Given the description of an element on the screen output the (x, y) to click on. 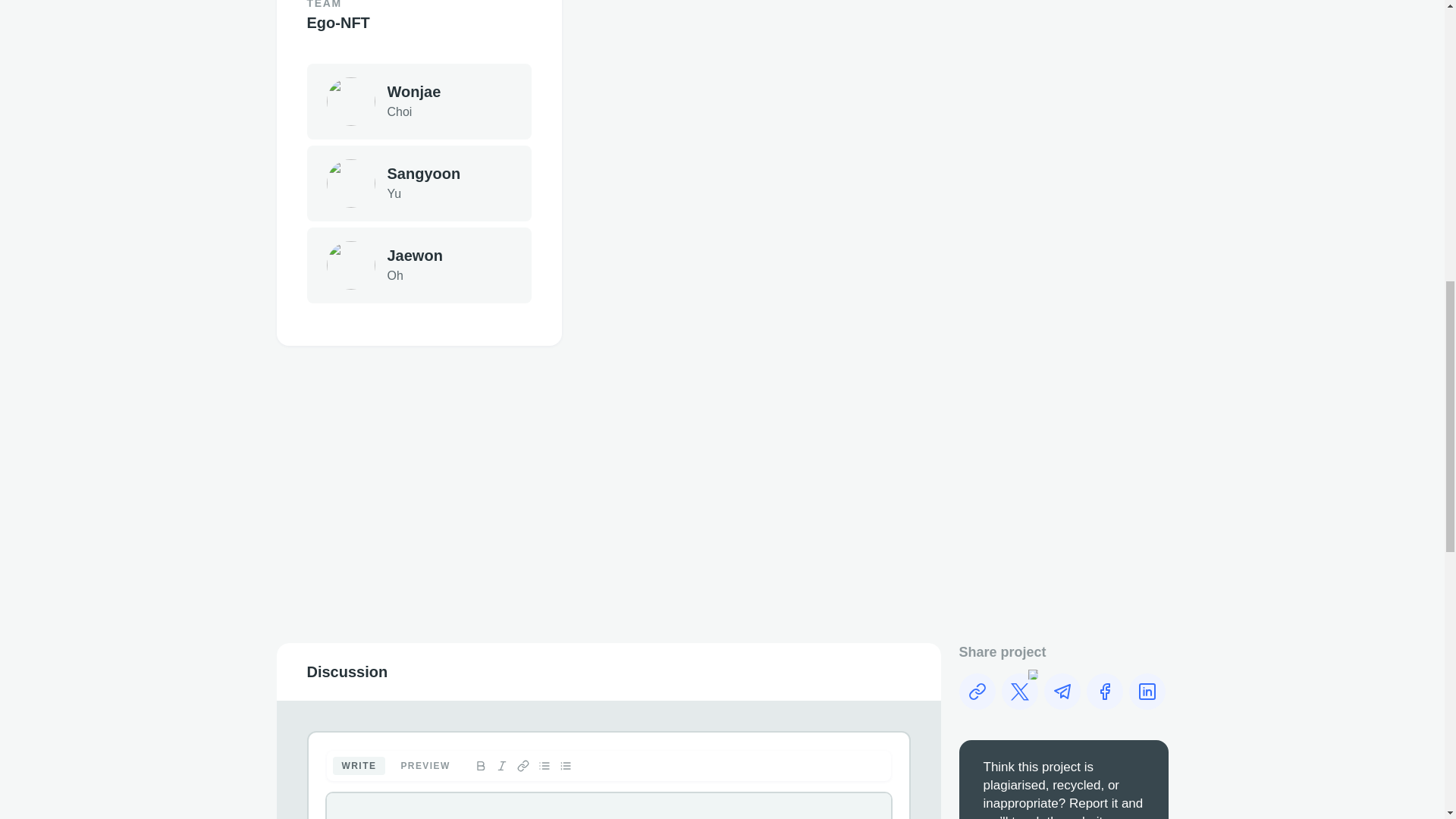
PREVIEW (424, 765)
WRITE (418, 183)
